Given the description of an element on the screen output the (x, y) to click on. 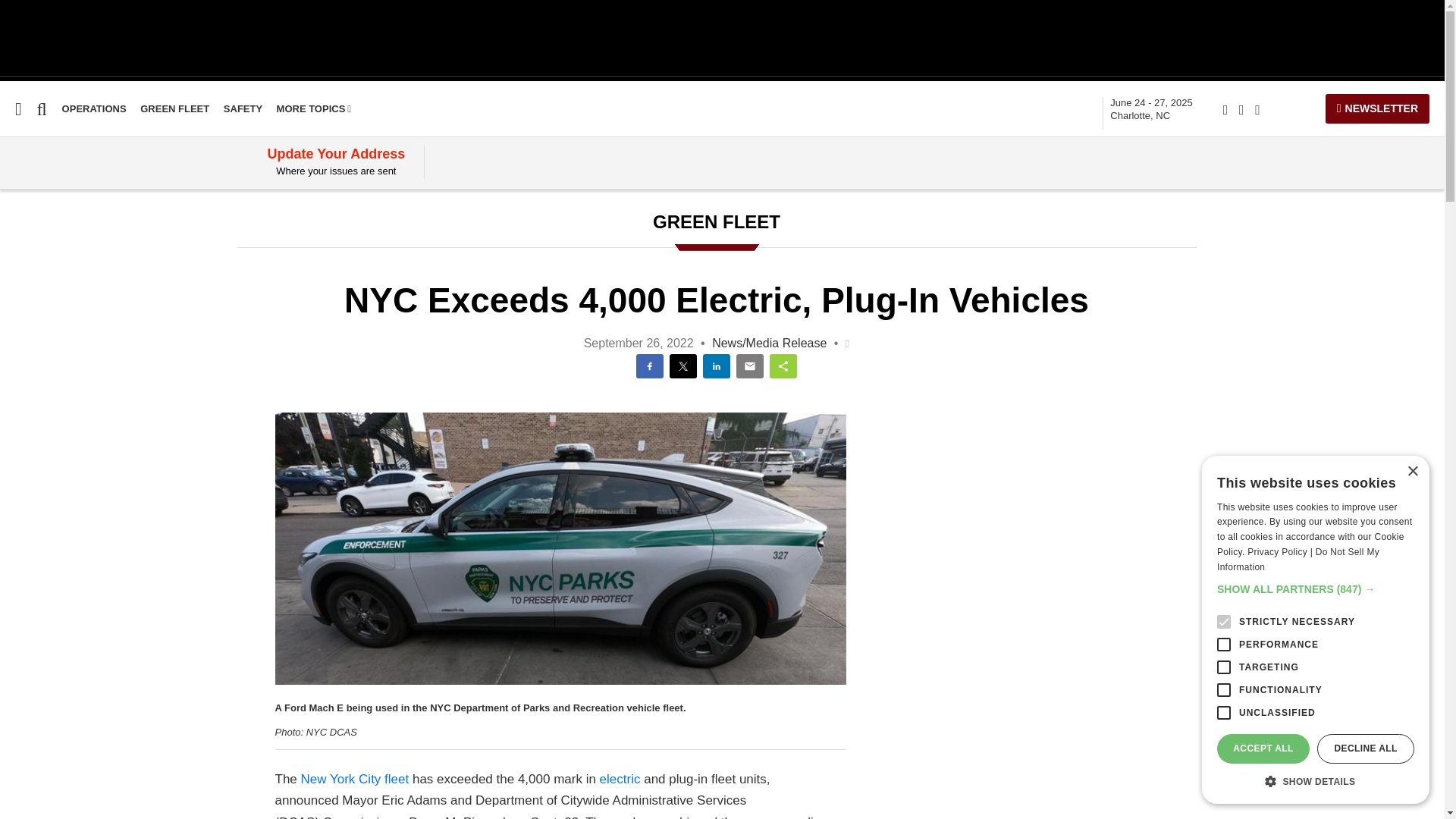
GREEN FLEET (174, 108)
Police (16, 351)
June 24 - 27, 2025 (1150, 109)
Green Fleet (174, 108)
MORE TOPICS (314, 108)
SAFETY (243, 108)
Home (16, 206)
Home (16, 206)
Vehicle Research (50, 236)
OPERATIONS (94, 108)
Software (25, 293)
Green Fleet (33, 380)
Operations (94, 108)
Fuel (11, 264)
Fuel (11, 264)
